Given the description of an element on the screen output the (x, y) to click on. 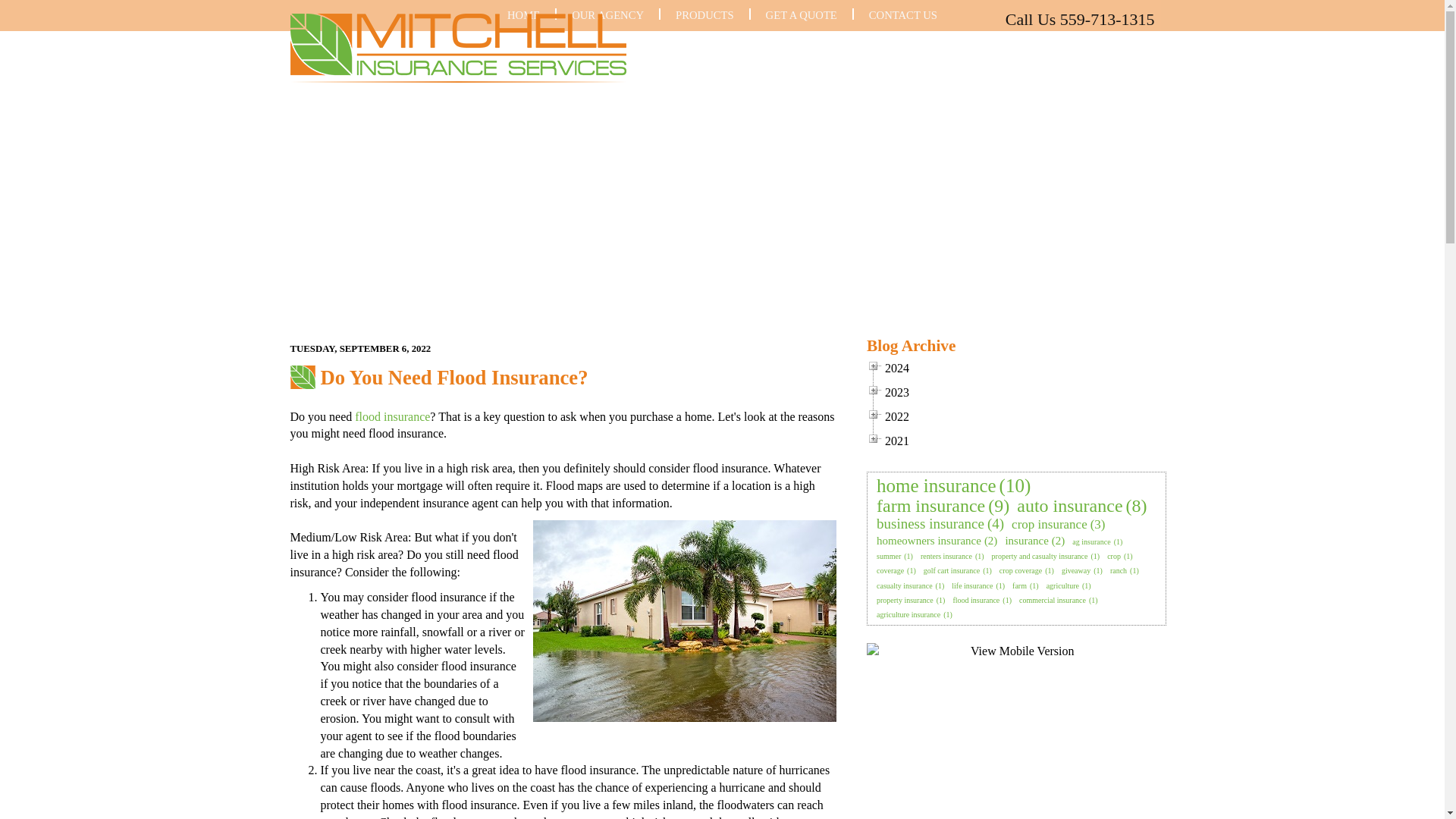
giveaway (1075, 570)
golf cart insurance (951, 570)
home insurance (935, 485)
coverage (890, 570)
crop coverage (1020, 570)
crop insurance (1049, 524)
renters insurance (946, 555)
Call Us 559-713-1315 (943, 19)
auto insurance (1069, 505)
property and casualty insurance (1039, 555)
